Given the description of an element on the screen output the (x, y) to click on. 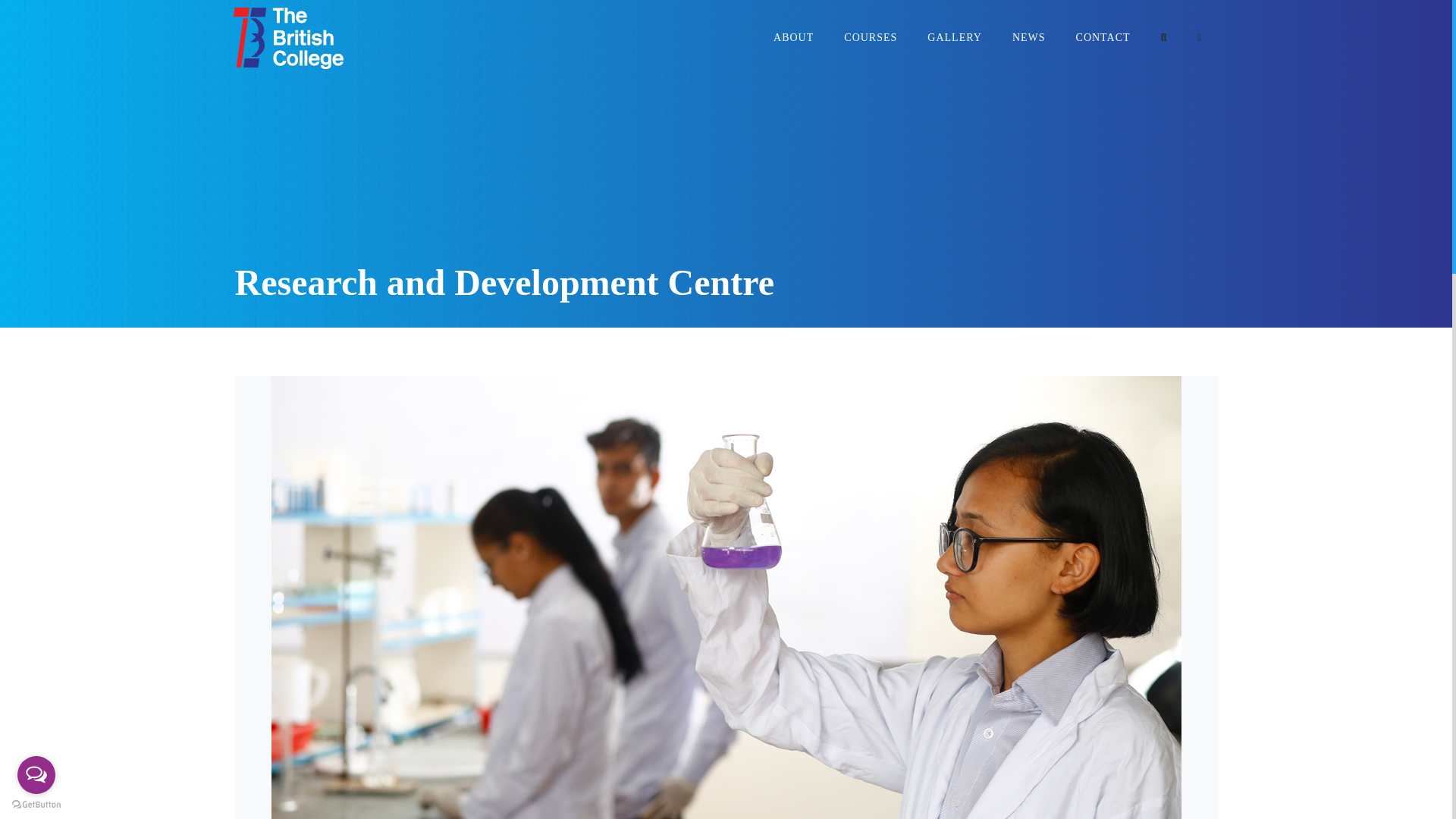
CONTACT (1103, 38)
GALLERY (954, 38)
COURSES (870, 38)
ABOUT (793, 38)
